Given the description of an element on the screen output the (x, y) to click on. 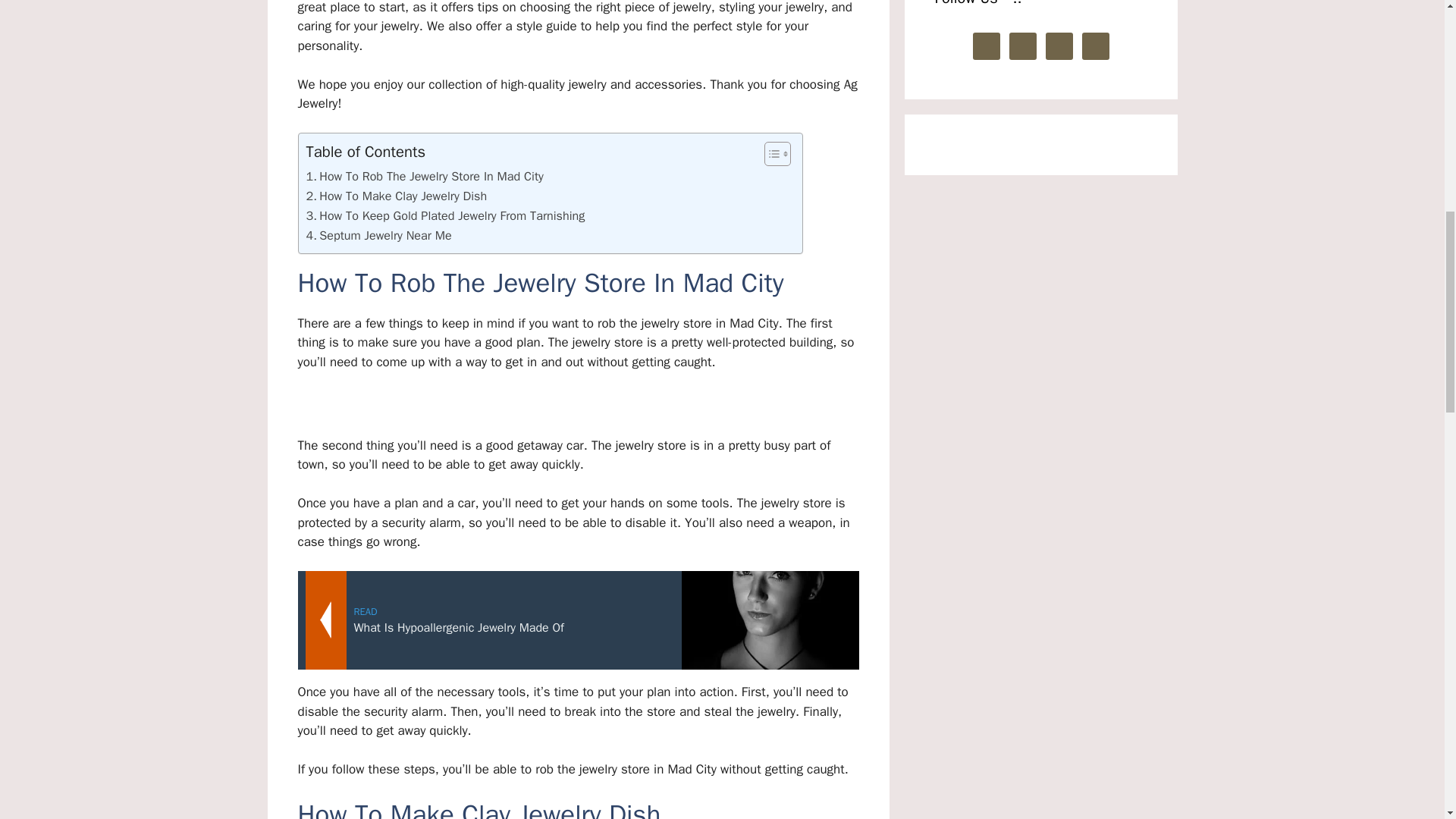
How To Make Clay Jewelry Dish (396, 196)
How To Rob The Jewelry Store In Mad City (424, 176)
Septum Jewelry Near Me (378, 235)
How To Keep Gold Plated Jewelry From Tarnishing (445, 216)
